Given the description of an element on the screen output the (x, y) to click on. 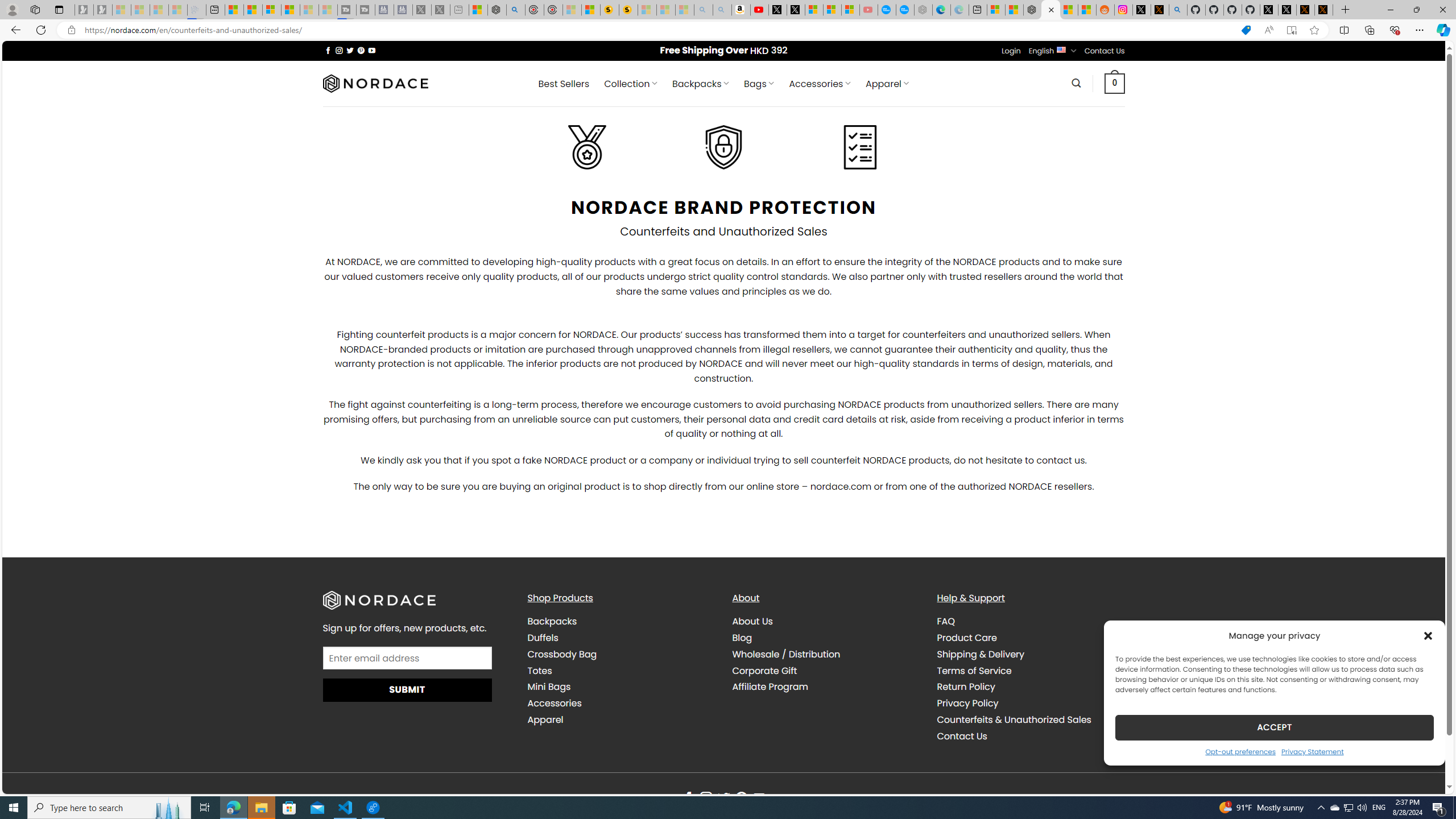
amazon - Search - Sleeping (702, 9)
The most popular Google 'how to' searches (904, 9)
This site has coupons! Shopping in Microsoft Edge (1245, 29)
Contact Us (961, 735)
Affiliate Program (770, 686)
poe - Search (515, 9)
Contact Us (1030, 735)
